Given the description of an element on the screen output the (x, y) to click on. 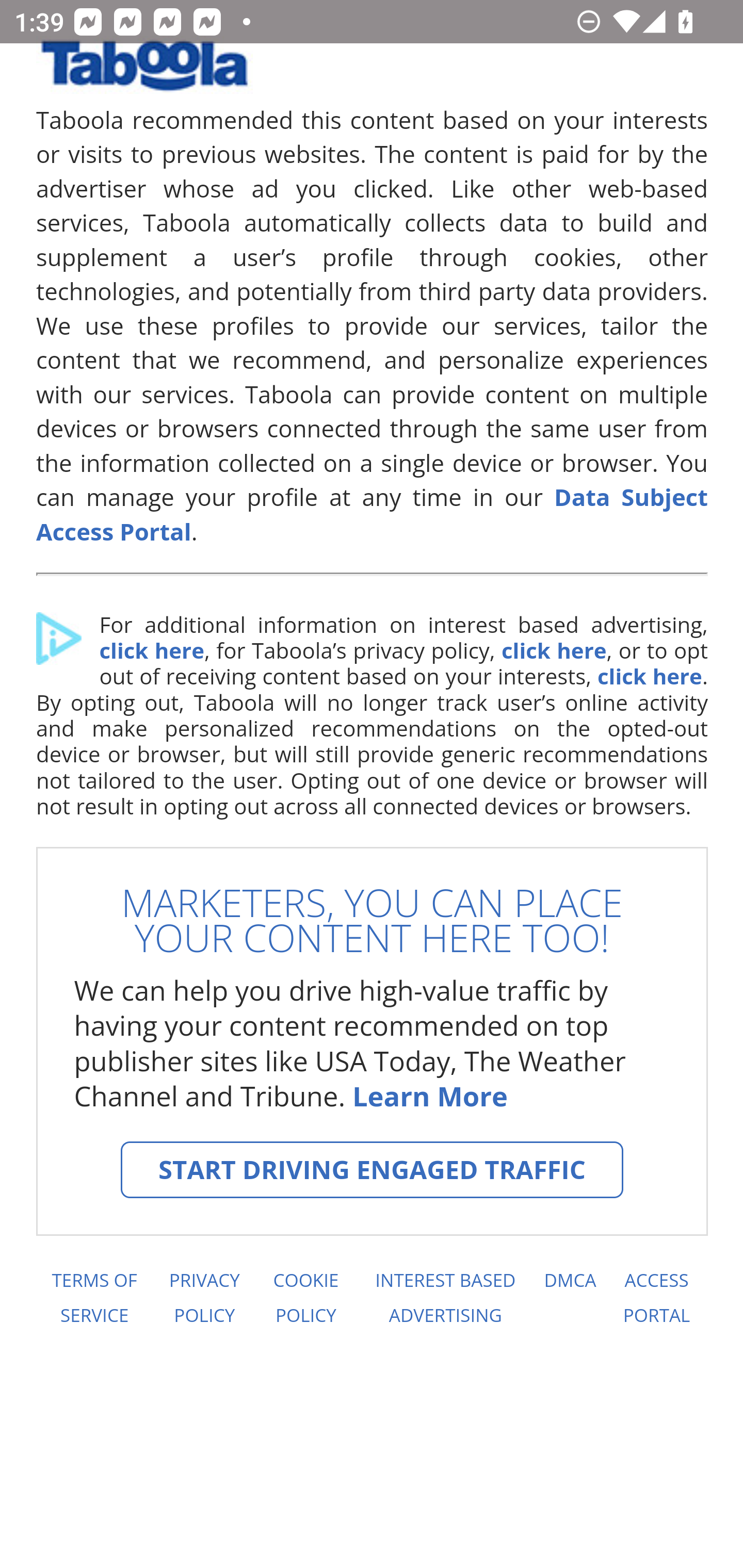
Taboola (144, 73)
Data Subject Access Portal (372, 513)
click here (151, 650)
click here (553, 650)
click here (648, 676)
Learn More (429, 1095)
START DRIVING ENGAGED TRAFFIC (371, 1169)
TERMS OF SERVICE (93, 1298)
PRIVACY POLICY (203, 1298)
COOKIE POLICY (305, 1298)
INTEREST BASED ADVERTISING (445, 1298)
DMCA (570, 1298)
ACCESS PORTAL (656, 1298)
